Given the description of an element on the screen output the (x, y) to click on. 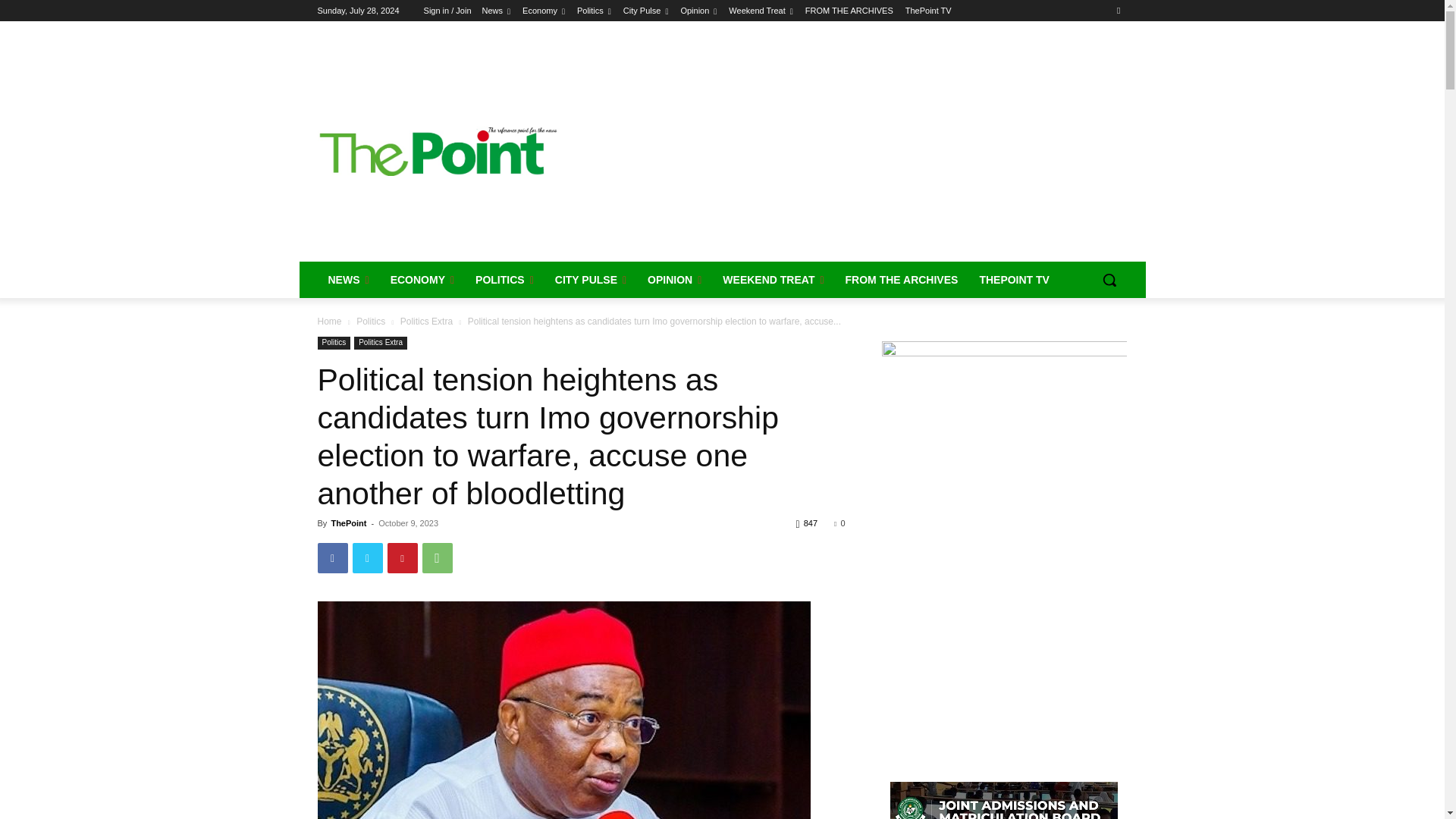
Pinterest (401, 557)
Facebook (332, 557)
Advertisement (843, 148)
View all posts in Politics Extra (426, 321)
Twitter (366, 557)
Facebook (1117, 9)
Hope-Uzodinma (563, 710)
View all posts in Politics (370, 321)
WhatsApp (436, 557)
